Given the description of an element on the screen output the (x, y) to click on. 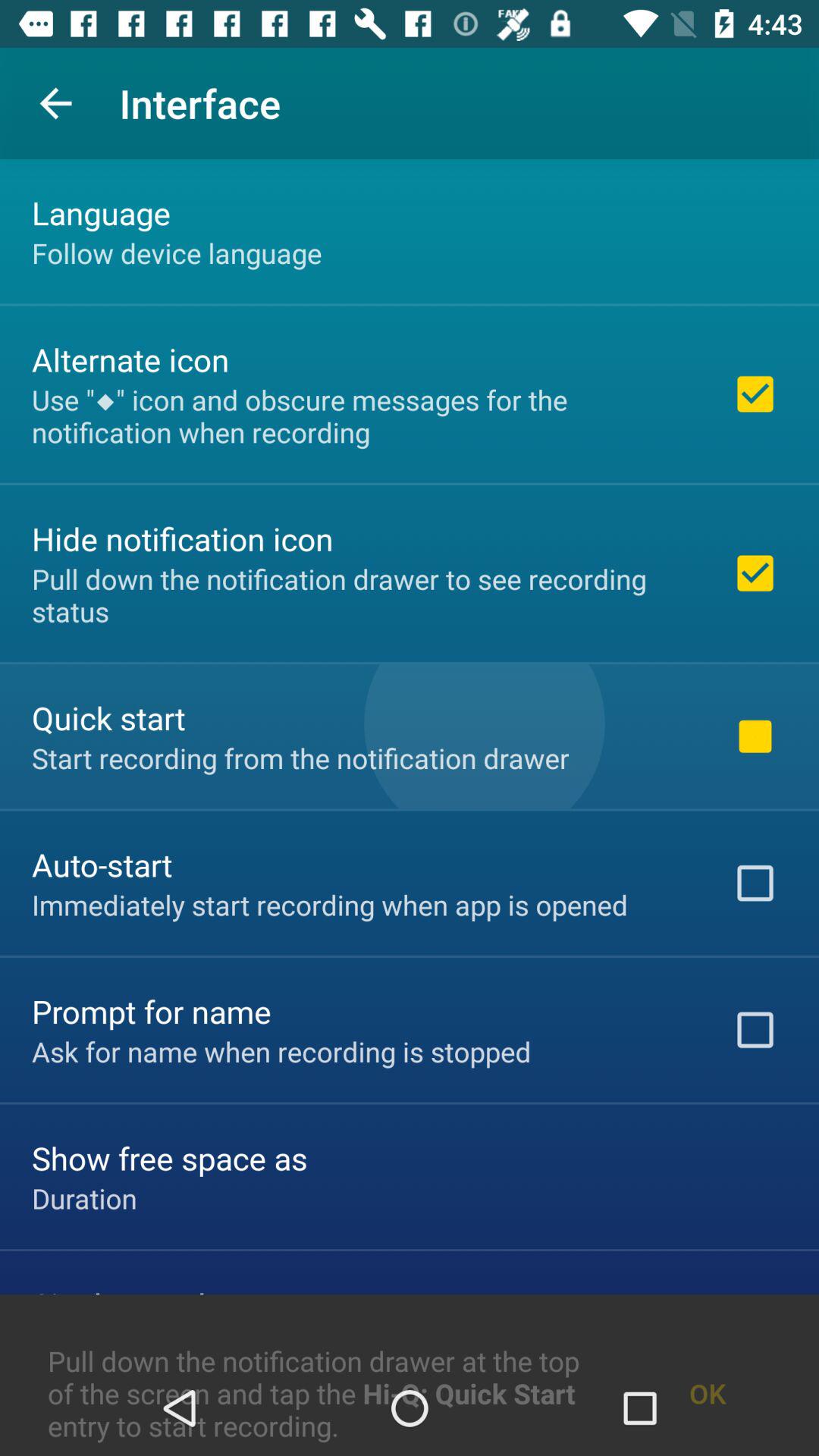
turn off icon above the pull down the (84, 1198)
